Given the description of an element on the screen output the (x, y) to click on. 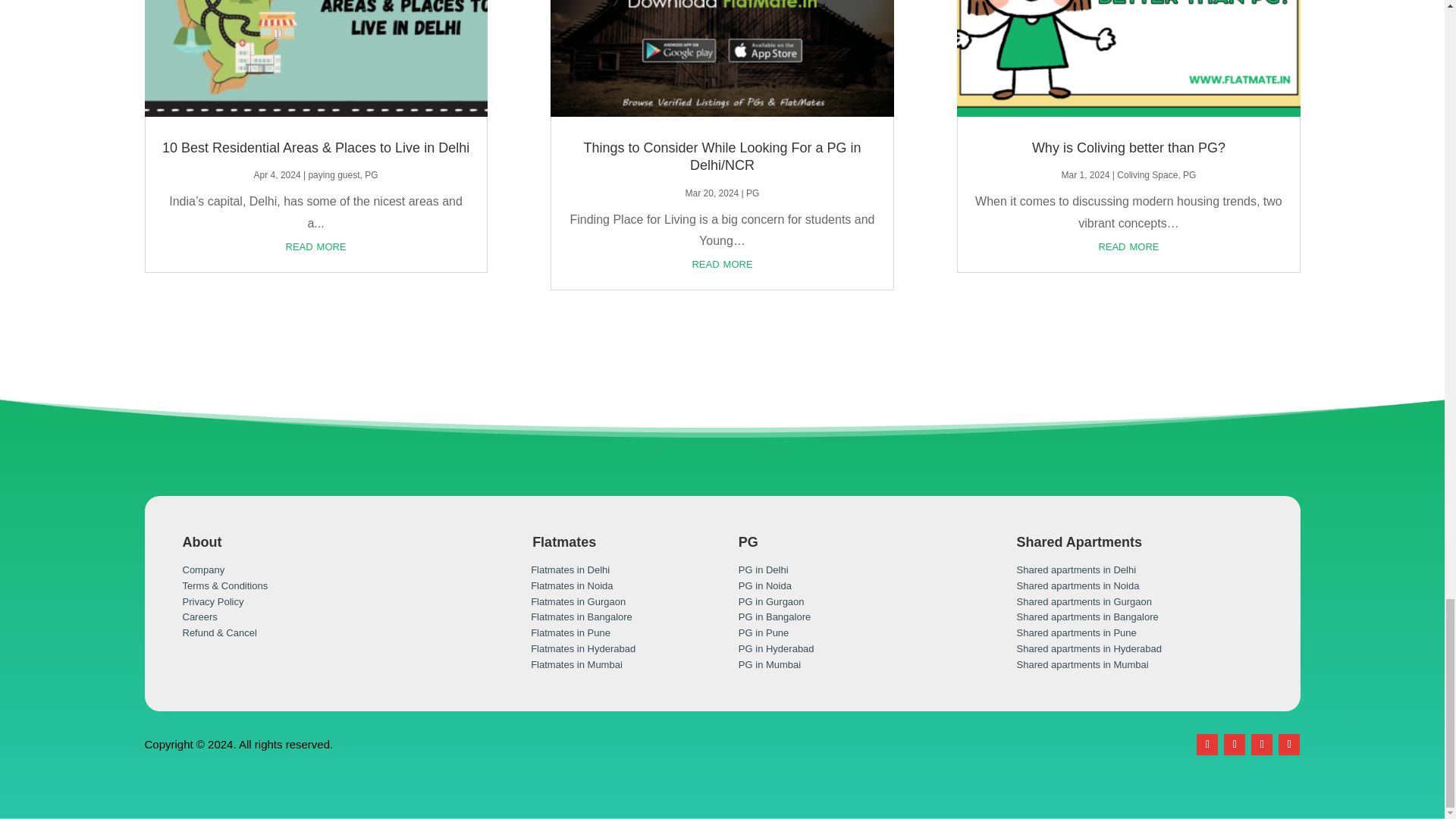
Careers (199, 616)
Follow on LinkedIn (1261, 744)
PG (1188, 174)
Follow on Instagram (1289, 744)
Company (203, 569)
read more (315, 245)
Privacy Policy (212, 601)
read more (1127, 245)
Flatmates in Noida (571, 585)
Follow on Facebook (1206, 744)
